Given the description of an element on the screen output the (x, y) to click on. 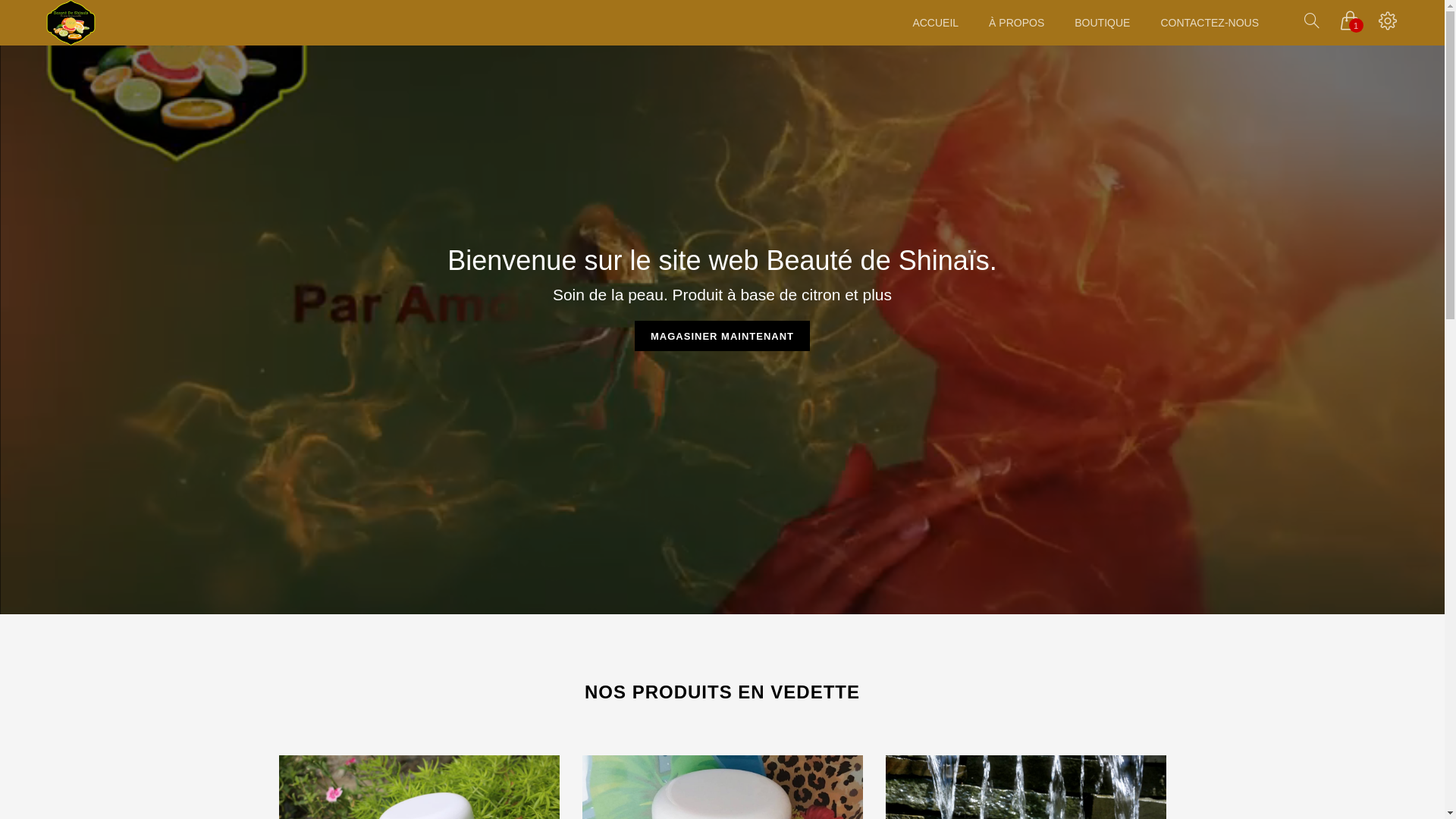
1 Element type: text (1349, 24)
CONTACTEZ-NOUS Element type: text (1209, 22)
MAGASINER MAINTENANT Element type: text (721, 335)
BOUTIQUE Element type: text (1102, 22)
ACCUEIL Element type: text (935, 22)
